Given the description of an element on the screen output the (x, y) to click on. 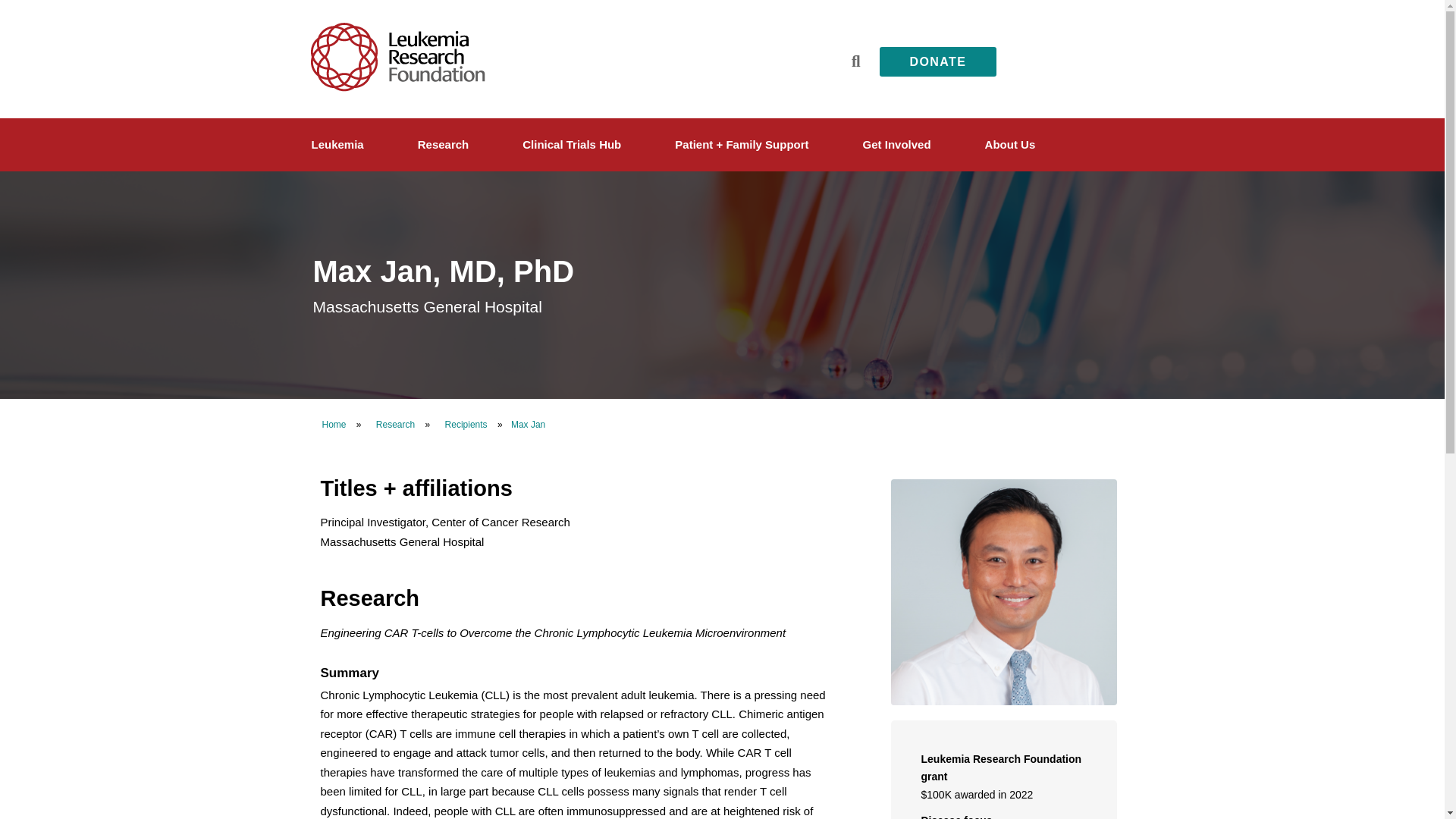
Clinical Trials Hub (573, 144)
max-jan-300x300 (1002, 592)
DONATE (938, 61)
Leukemia (339, 144)
Research (445, 144)
LRF-Logo-website-230px-wide (397, 56)
